Given the description of an element on the screen output the (x, y) to click on. 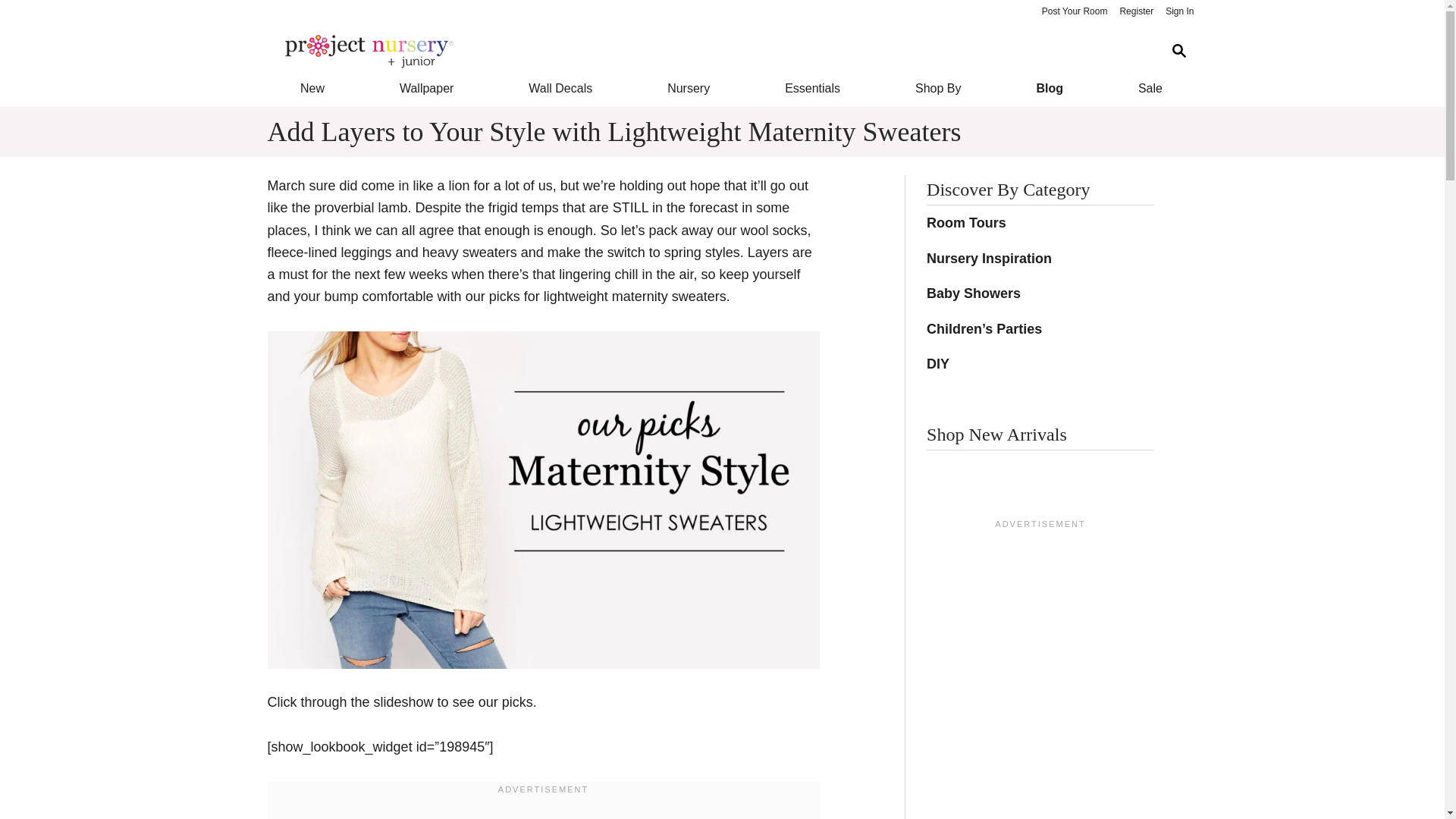
Nursery (689, 88)
New (311, 88)
Project Nursery (709, 51)
Wall Decals (561, 88)
Register (1135, 11)
Sign In (1178, 11)
Search (1178, 50)
Post Your Room (1074, 11)
Wallpaper (425, 88)
Post Your Room (1074, 11)
